Given the description of an element on the screen output the (x, y) to click on. 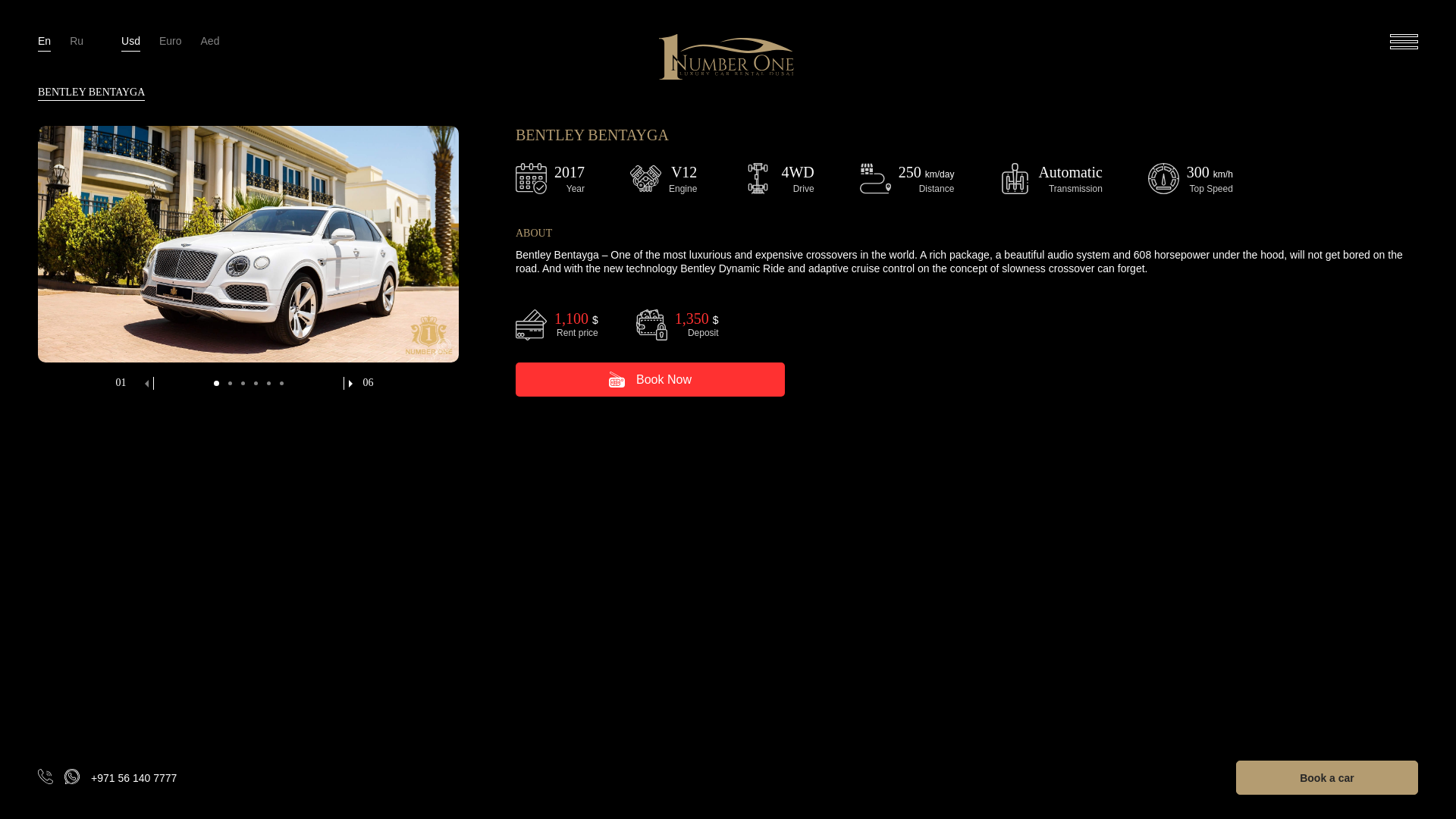
Aed (209, 40)
Ru (75, 40)
Euro (170, 40)
En (43, 40)
Usd (129, 40)
